Given the description of an element on the screen output the (x, y) to click on. 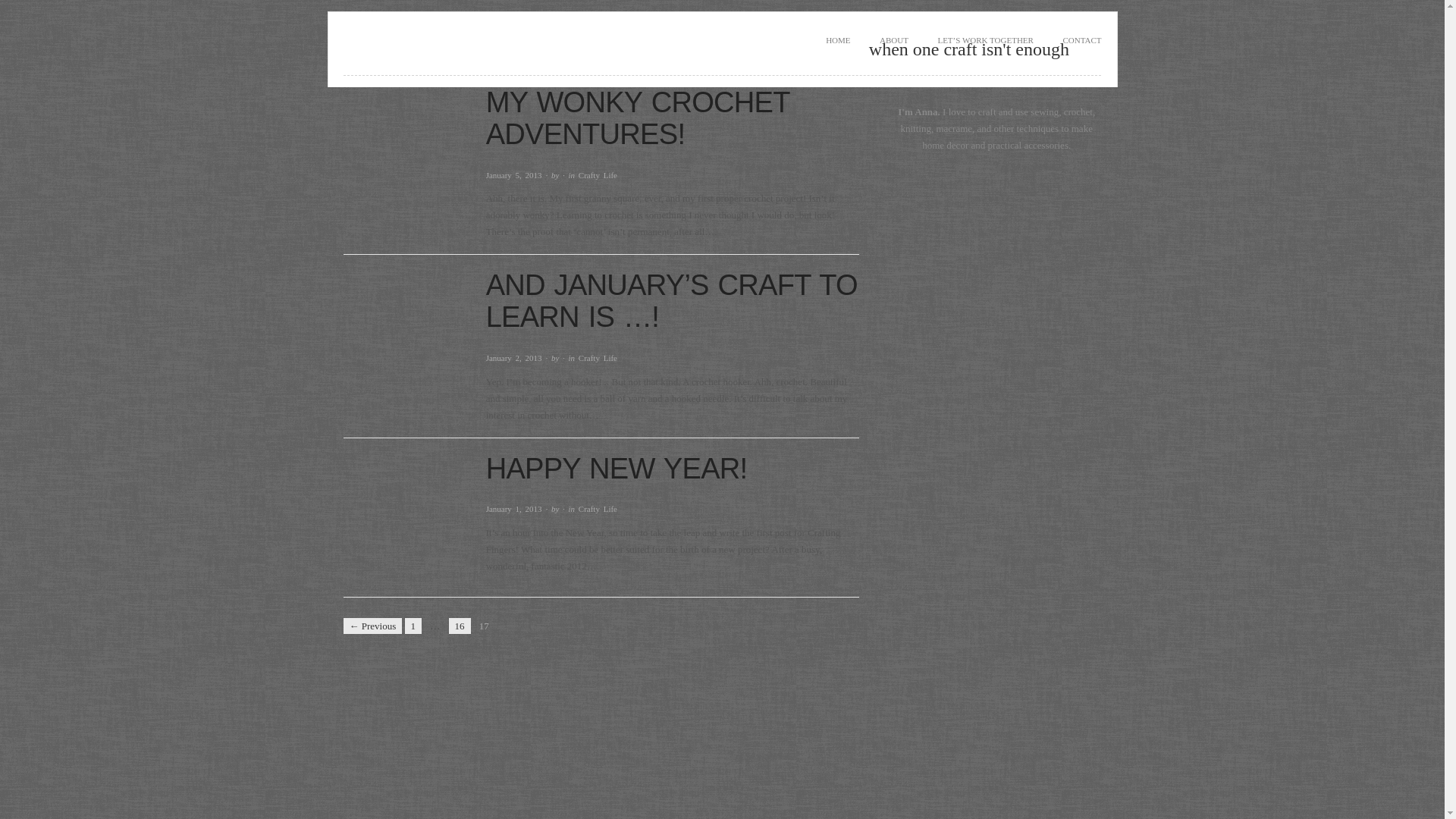
Crafty Life (597, 357)
CONTACT (1081, 40)
Crafty Life (597, 174)
Tuesday, January 1st, 2013, 1:41 am (513, 508)
MY WONKY CROCHET ADVENTURES! (637, 117)
Crafty Life (597, 508)
Wednesday, January 2nd, 2013, 5:23 pm (513, 357)
Saturday, January 5th, 2013, 3:20 pm (513, 174)
HOME (837, 40)
HAPPY NEW YEAR! (617, 468)
